Given the description of an element on the screen output the (x, y) to click on. 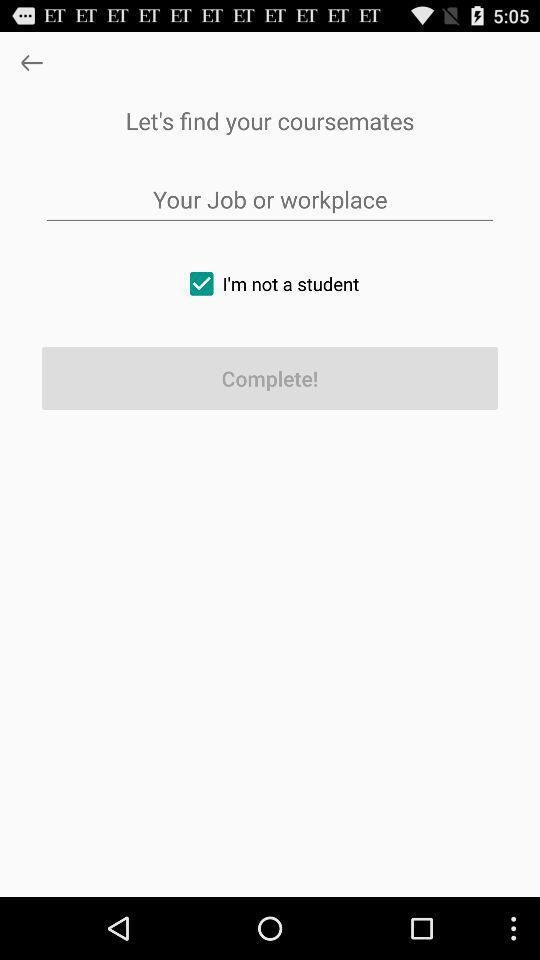
goes back (31, 62)
